Given the description of an element on the screen output the (x, y) to click on. 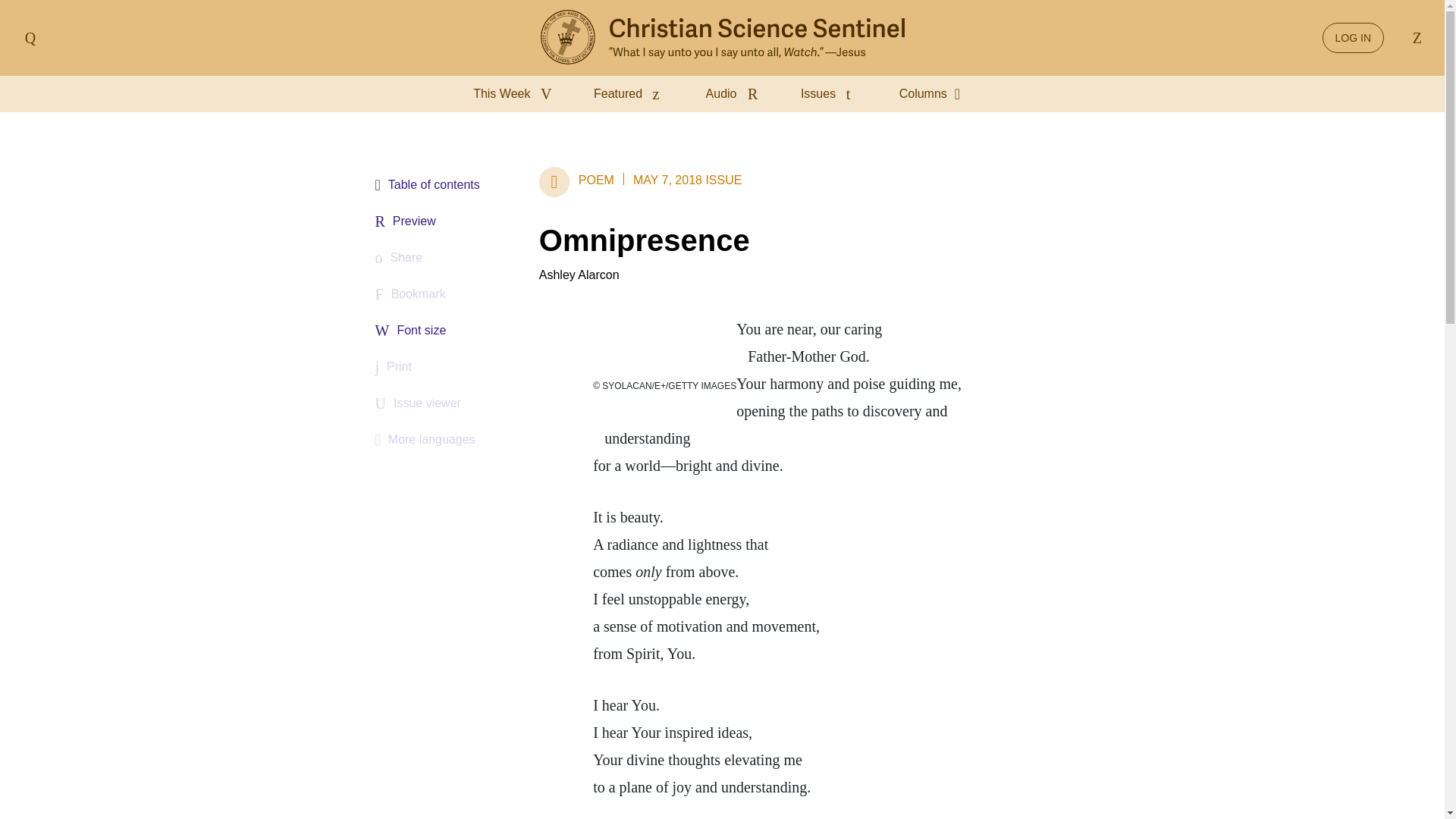
Audio (735, 94)
View Sentinel Columns and Sections (934, 94)
Search Modal (1414, 37)
Christian Science Sentinel (722, 37)
Side Menu (29, 37)
Issues (831, 94)
Columns (934, 94)
LOG IN (1353, 37)
This Week (515, 94)
This Week (515, 94)
